Given the description of an element on the screen output the (x, y) to click on. 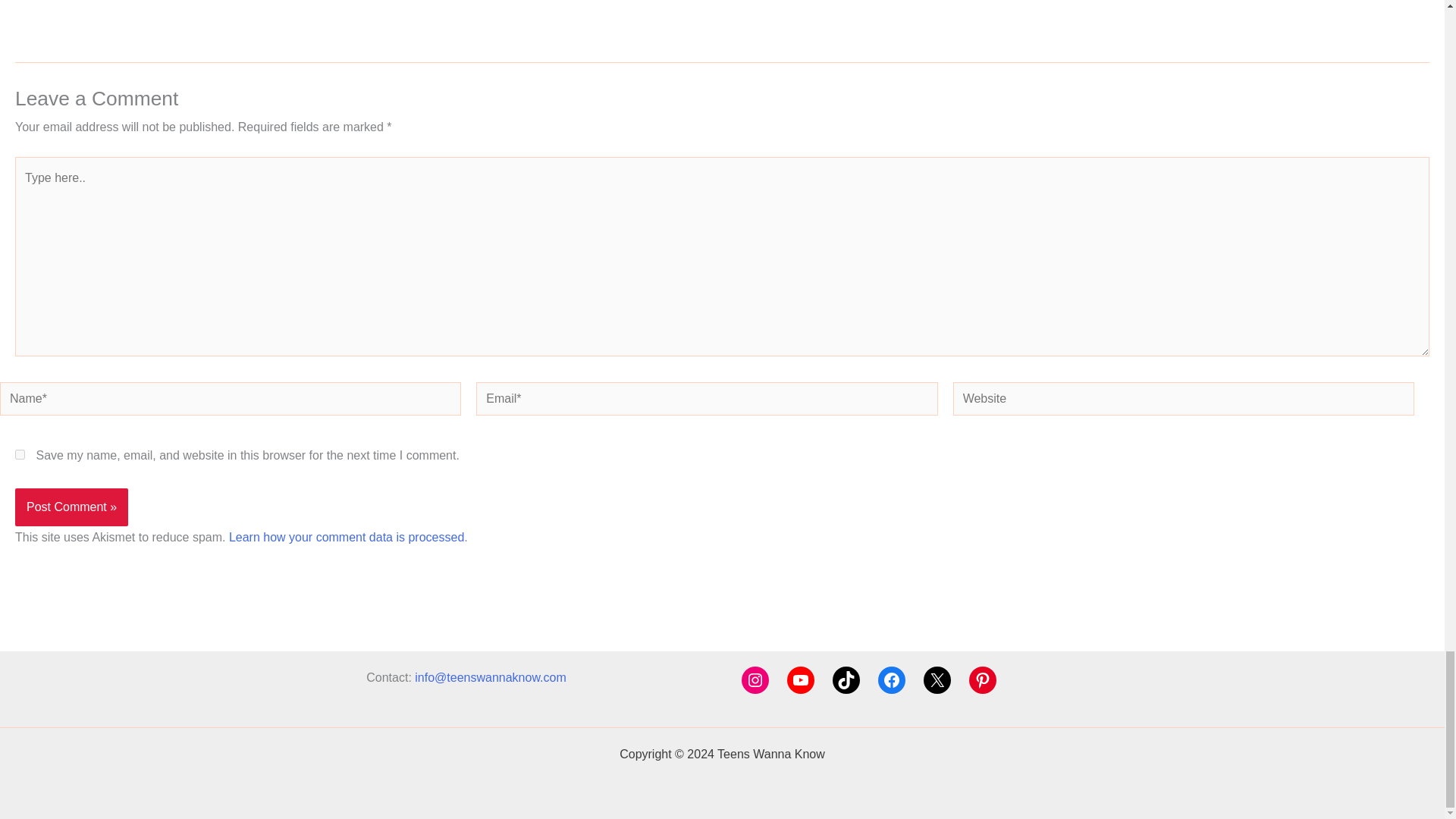
yes (19, 454)
